Given the description of an element on the screen output the (x, y) to click on. 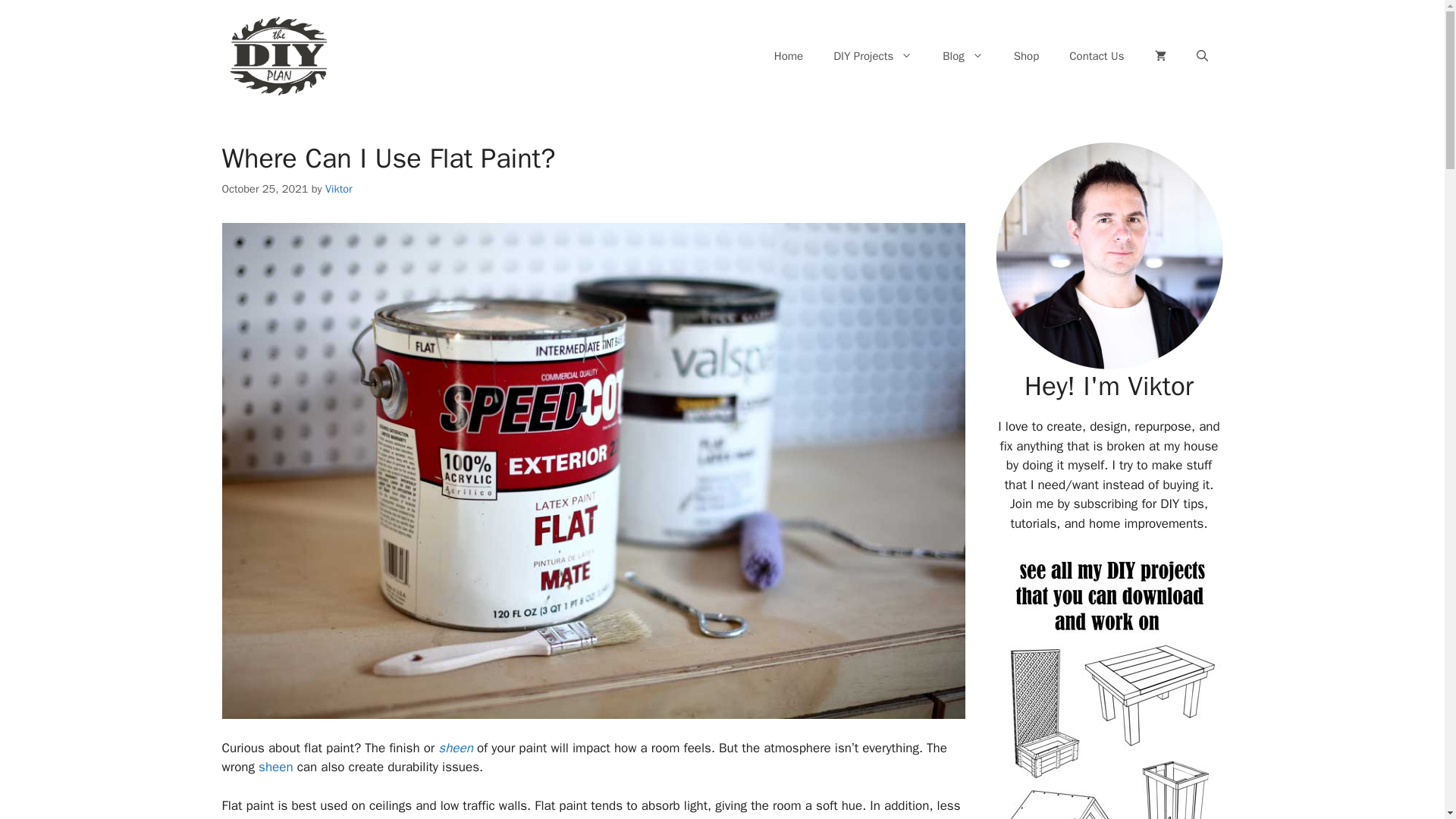
View all posts by Viktor (338, 188)
Contact Us (1096, 55)
Blog (962, 55)
Shop (1026, 55)
Home (788, 55)
sheen (276, 766)
Viktor (338, 188)
View your shopping cart (1159, 55)
sheen (455, 747)
DIY Projects (872, 55)
